Given the description of an element on the screen output the (x, y) to click on. 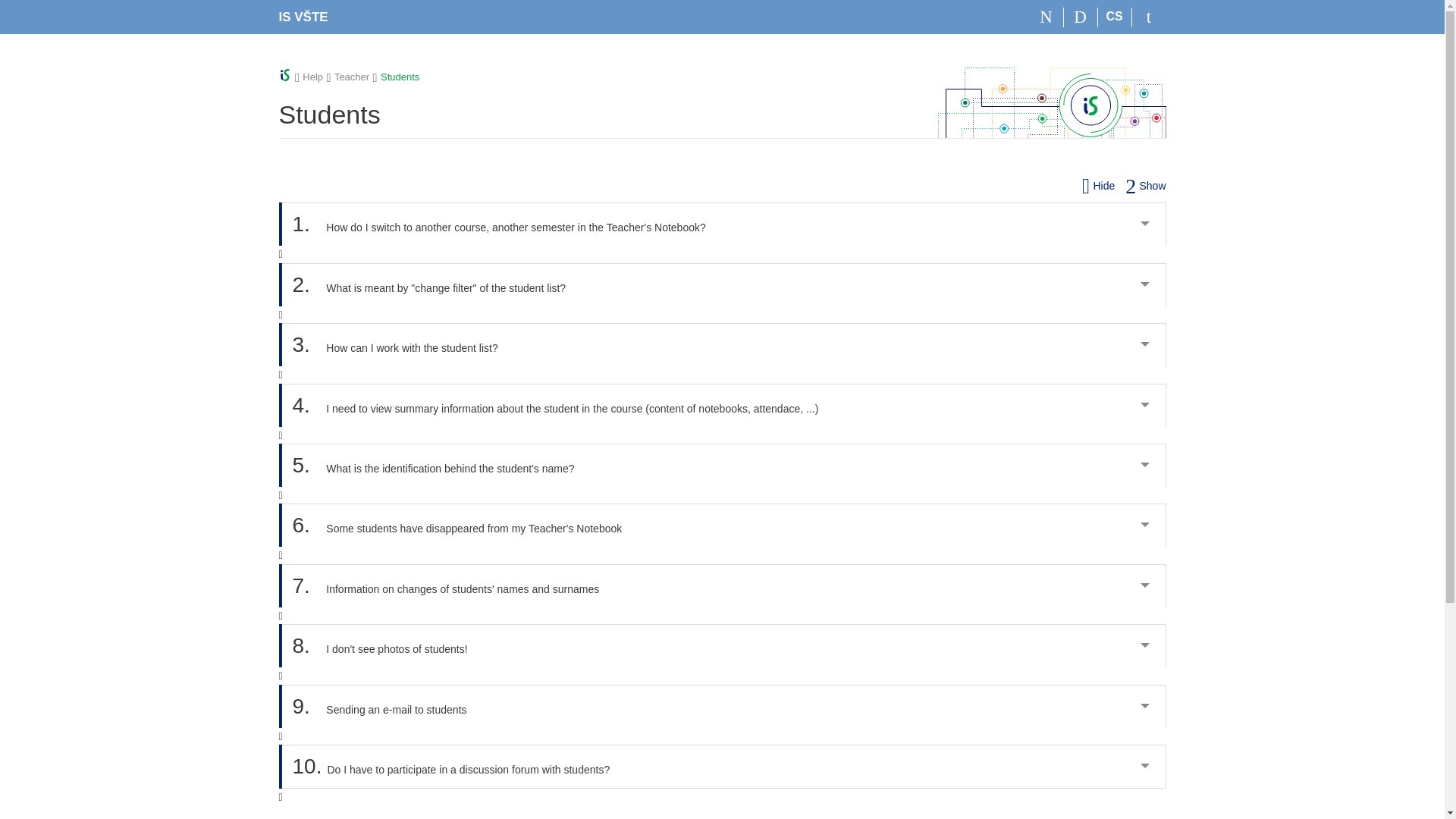
Help (312, 76)
Hide (1098, 185)
Students (399, 76)
Students (399, 76)
9.Sending an e-mail to students (724, 706)
8.I don't see photos of students! (724, 645)
CS (1114, 17)
Teacher (351, 76)
Home (1046, 17)
Search (1080, 17)
Teacher (351, 76)
2.What is meant by "change filter" of the student list? (724, 284)
7.Information on changes of students' names and surnames (724, 585)
5.What is the identification behind the student's name? (724, 464)
